Given the description of an element on the screen output the (x, y) to click on. 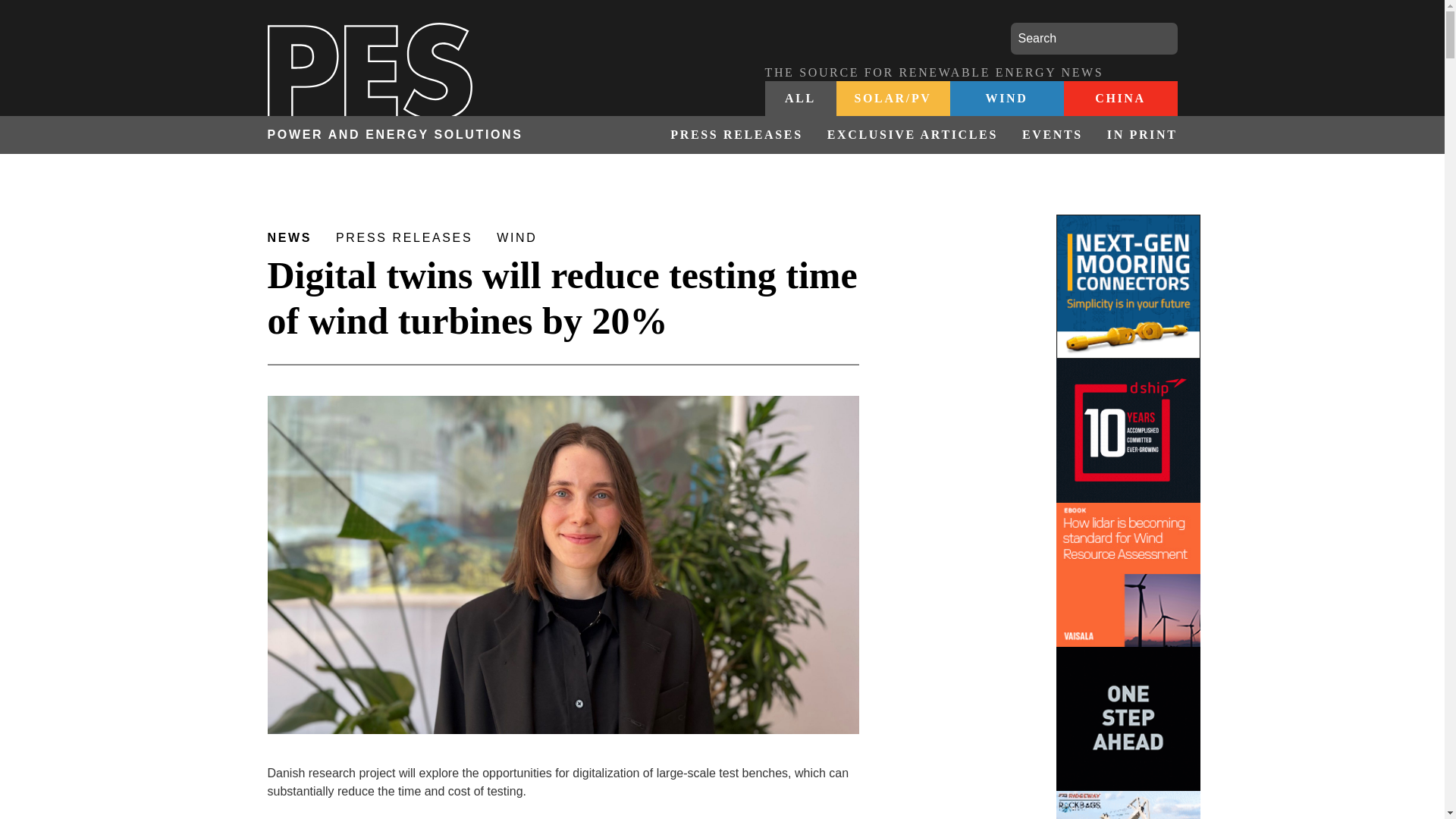
EVENTS (1052, 134)
Search for: (1093, 38)
ALL (799, 98)
EXCLUSIVE ARTICLES (912, 134)
Page 1 (562, 791)
CHINA (1119, 98)
WIND (1005, 98)
PRESS RELEASES (735, 134)
IN PRINT (1135, 134)
